Given the description of an element on the screen output the (x, y) to click on. 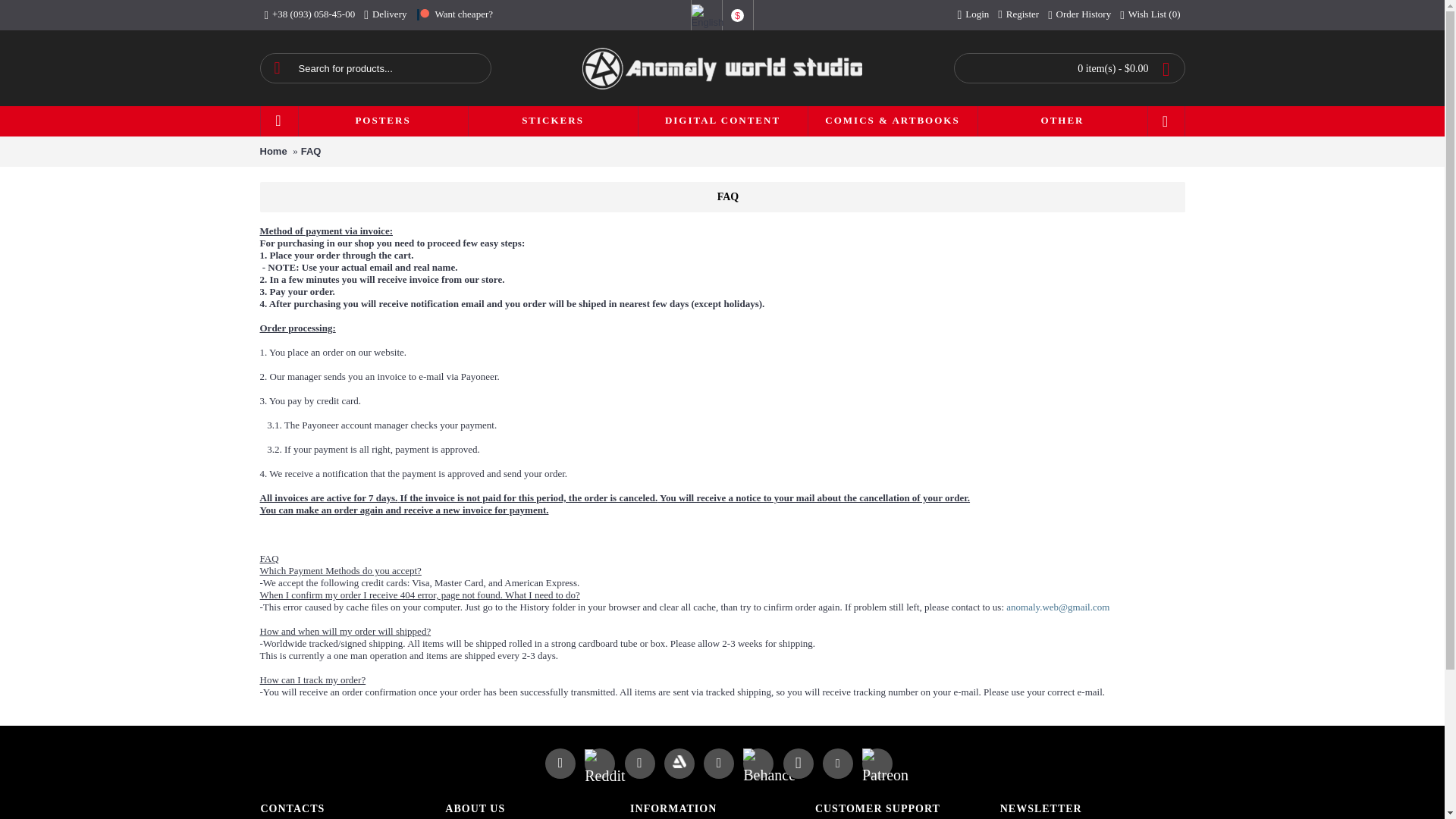
Anomaly World Store (721, 67)
Behance (768, 769)
Delivery (384, 15)
Reddit (604, 770)
POSTERS (382, 121)
Login (972, 15)
Patreon (884, 769)
Artstation (678, 764)
Register (1017, 15)
Order History (1079, 15)
Want cheaper? (453, 15)
